Given the description of an element on the screen output the (x, y) to click on. 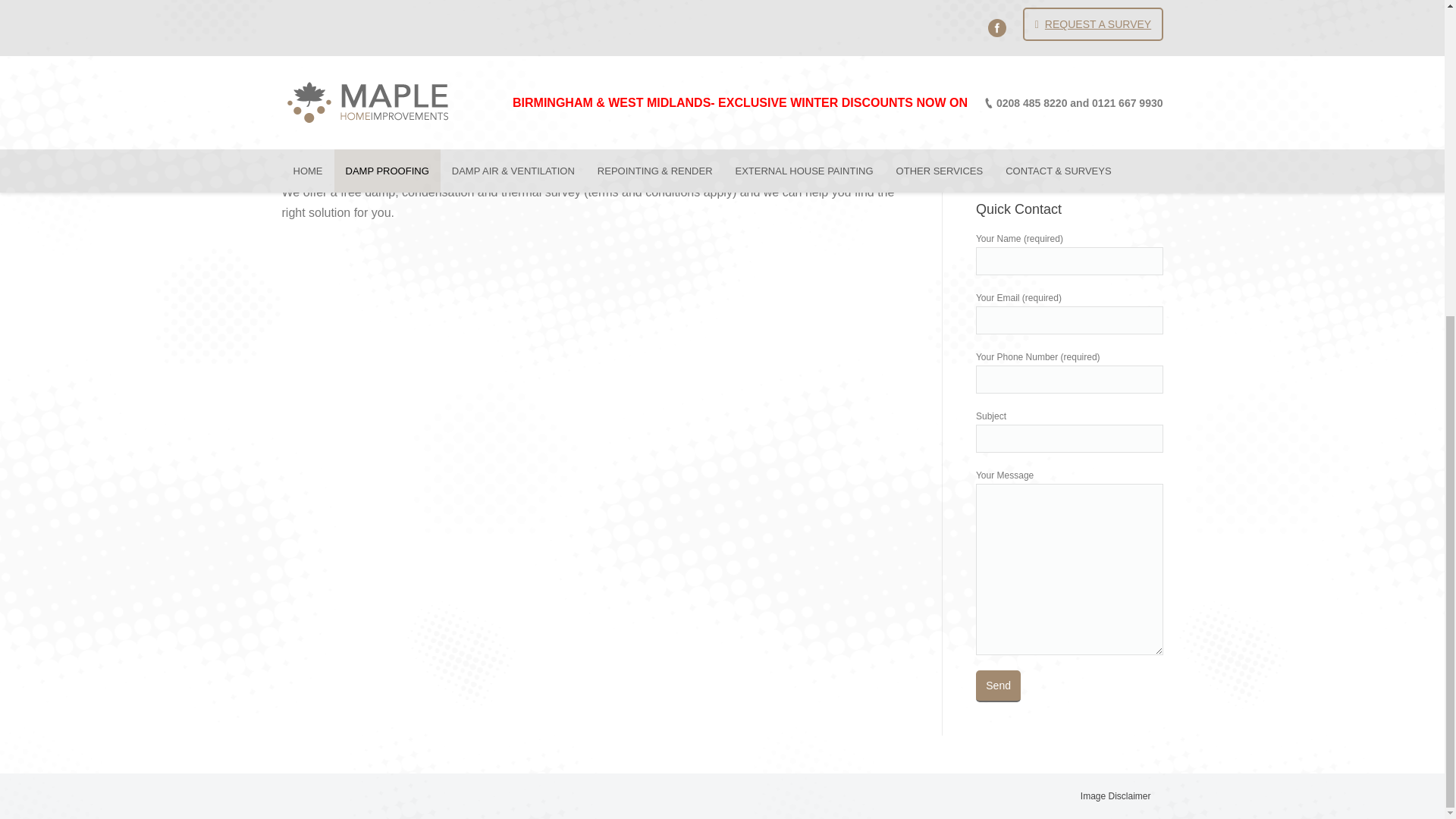
Send (997, 685)
